Given the description of an element on the screen output the (x, y) to click on. 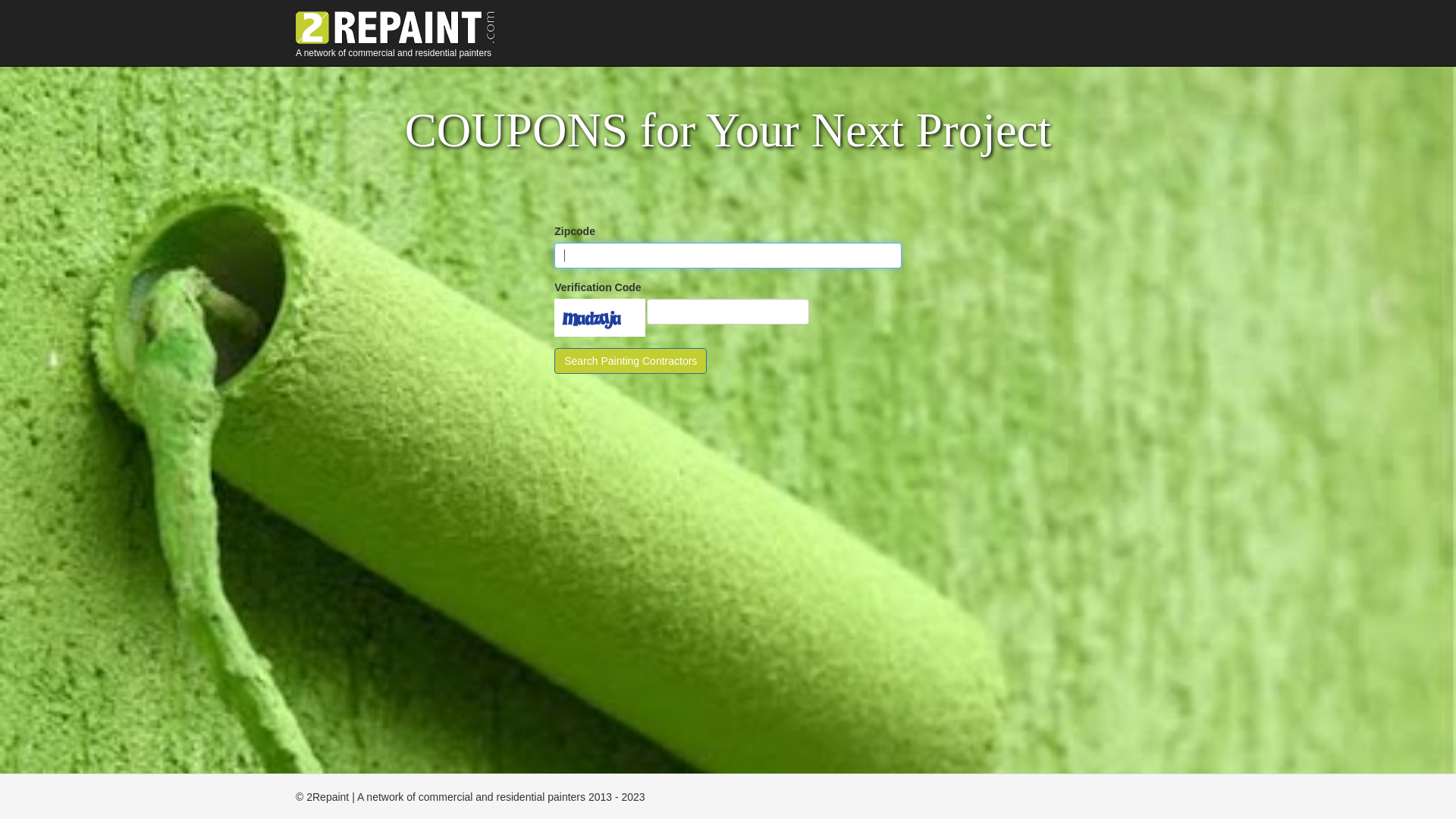
A network of commercial and residential painters Element type: text (402, 18)
Search Painting Contractors Element type: text (630, 360)
